Given the description of an element on the screen output the (x, y) to click on. 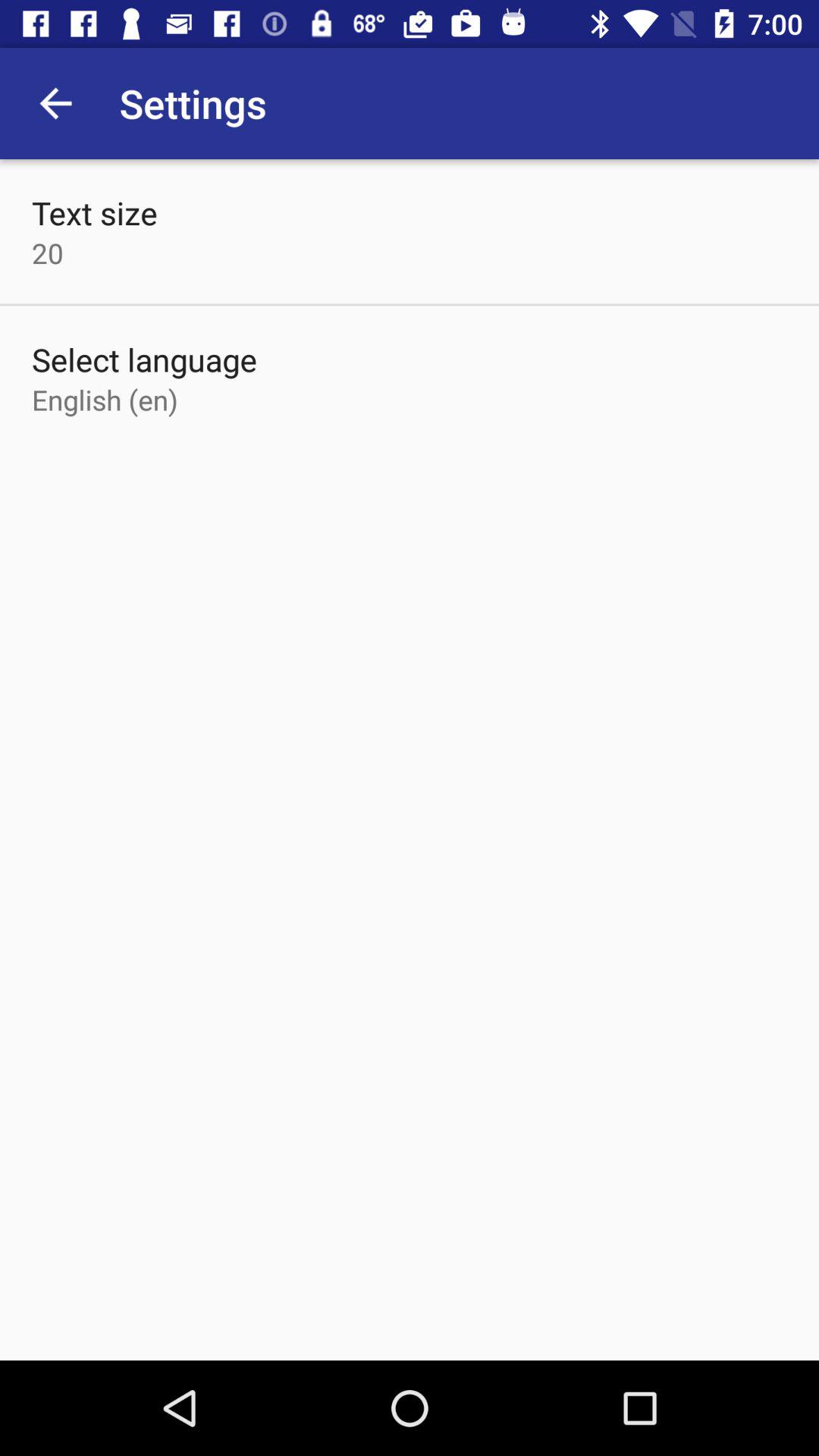
turn off icon above the english (en) item (144, 359)
